Given the description of an element on the screen output the (x, y) to click on. 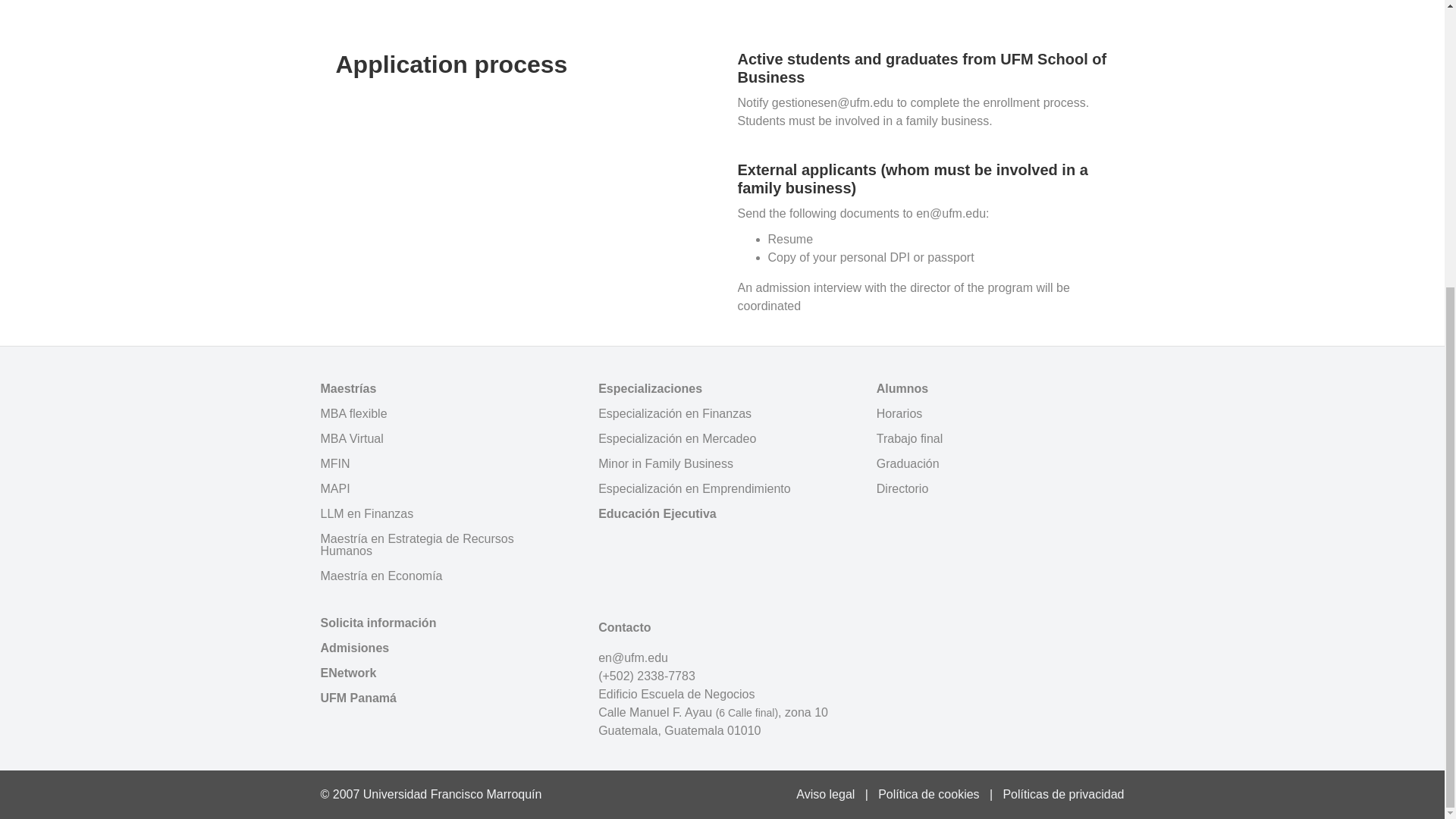
MFIN (443, 463)
MBA Virtual (443, 438)
Minor in Family Business (721, 463)
MBA flexible (443, 413)
Directorio (1000, 488)
MAPI (443, 488)
Horarios (1000, 413)
Alumnos (1000, 388)
ENetwork (443, 672)
Admisiones (443, 648)
Especializaciones (721, 388)
LLM en Finanzas (443, 514)
Trabajo final (1000, 438)
Aviso legal (825, 793)
